Given the description of an element on the screen output the (x, y) to click on. 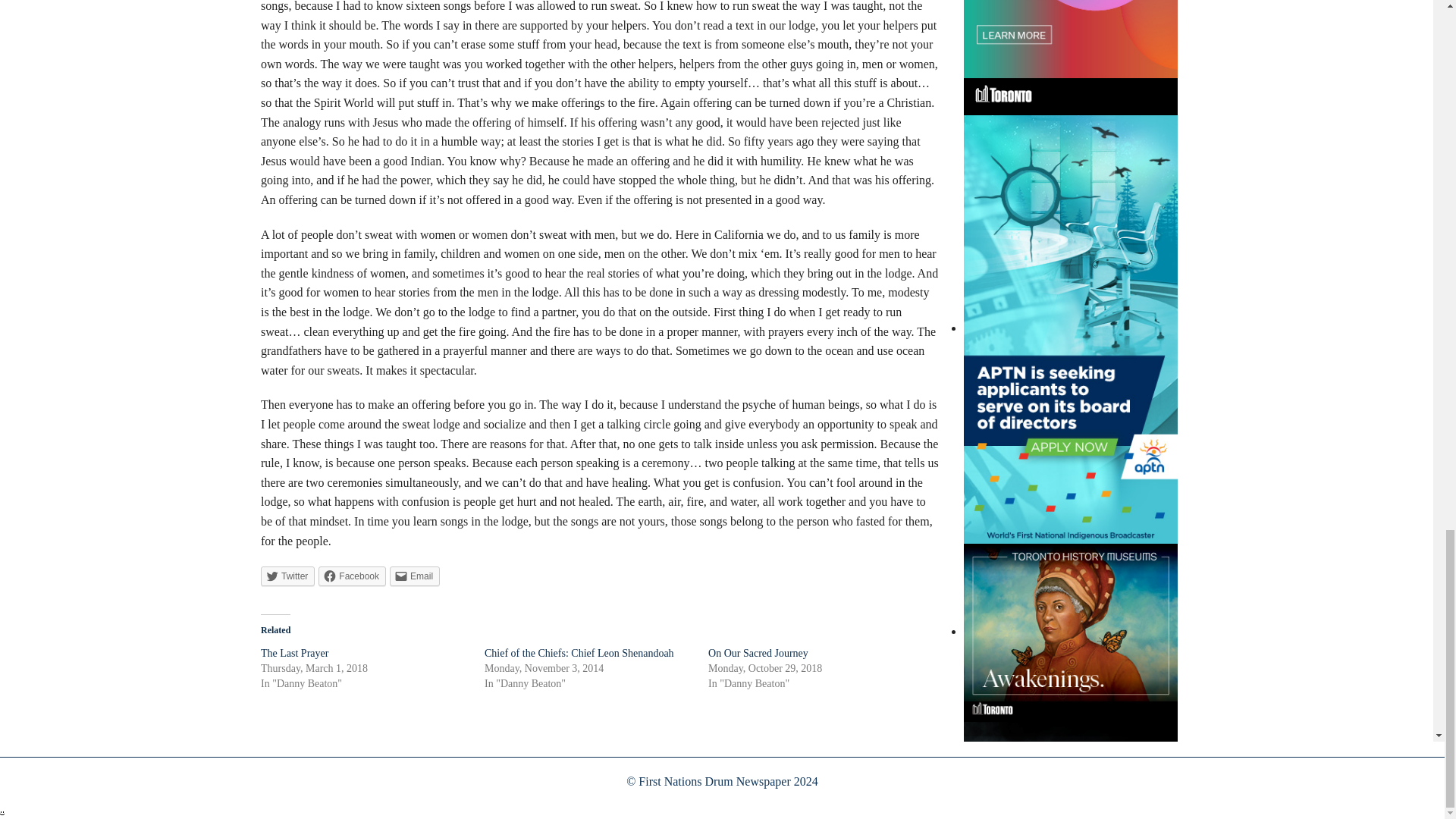
Email (414, 576)
Click to share on Facebook (351, 576)
Facebook (351, 576)
Click to share on Twitter (287, 576)
Chief of the Chiefs: Chief Leon Shenandoah (579, 653)
On Our Sacred Journey (757, 653)
On Our Sacred Journey (757, 653)
The Last Prayer (294, 653)
Click to email this to a friend (414, 576)
Twitter (287, 576)
Chief of the Chiefs: Chief Leon Shenandoah (579, 653)
The Last Prayer (294, 653)
